Given the description of an element on the screen output the (x, y) to click on. 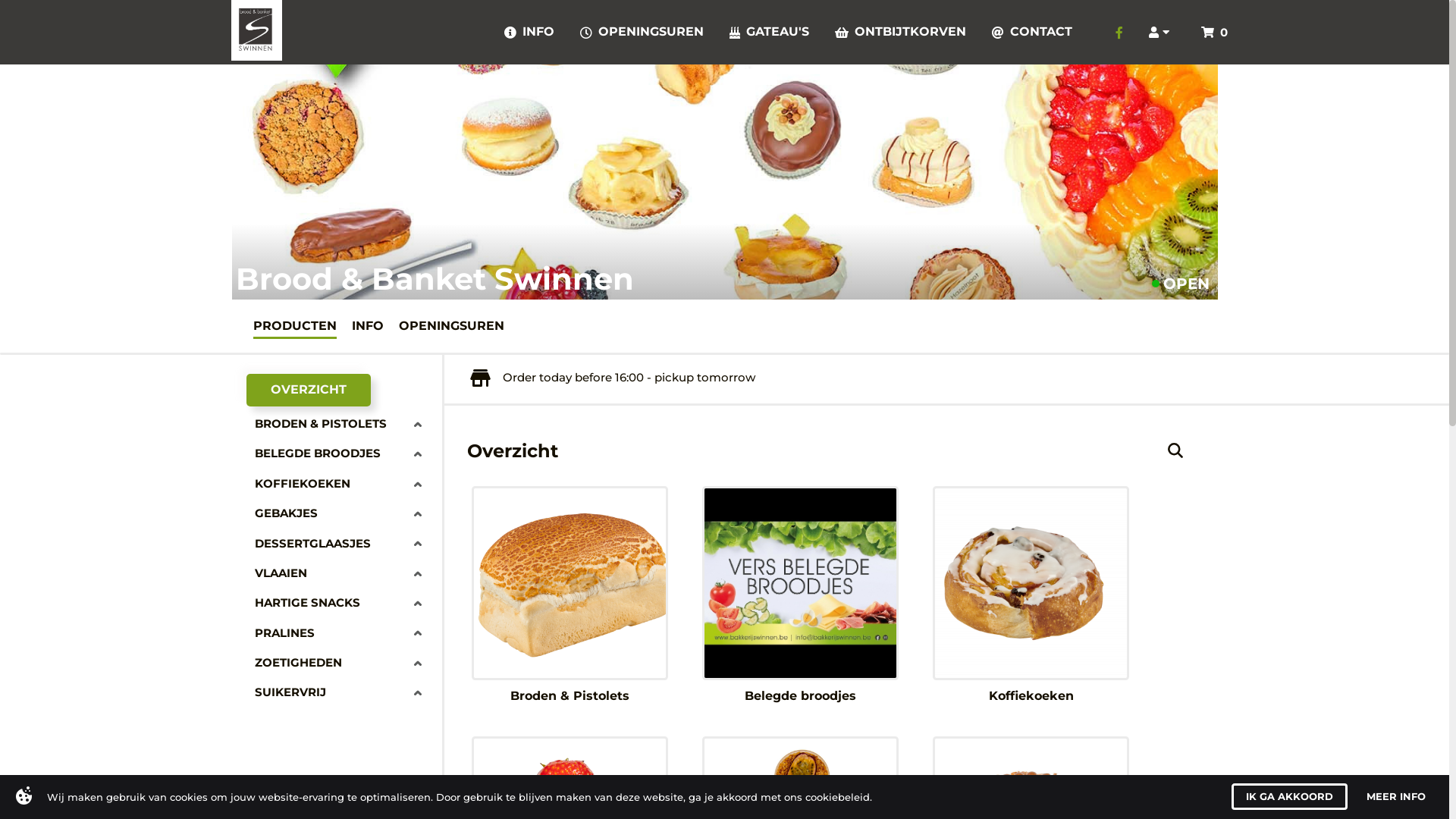
MORE INFO Element type: text (1402, 796)
I AGREE Element type: text (1316, 796)
